Given the description of an element on the screen output the (x, y) to click on. 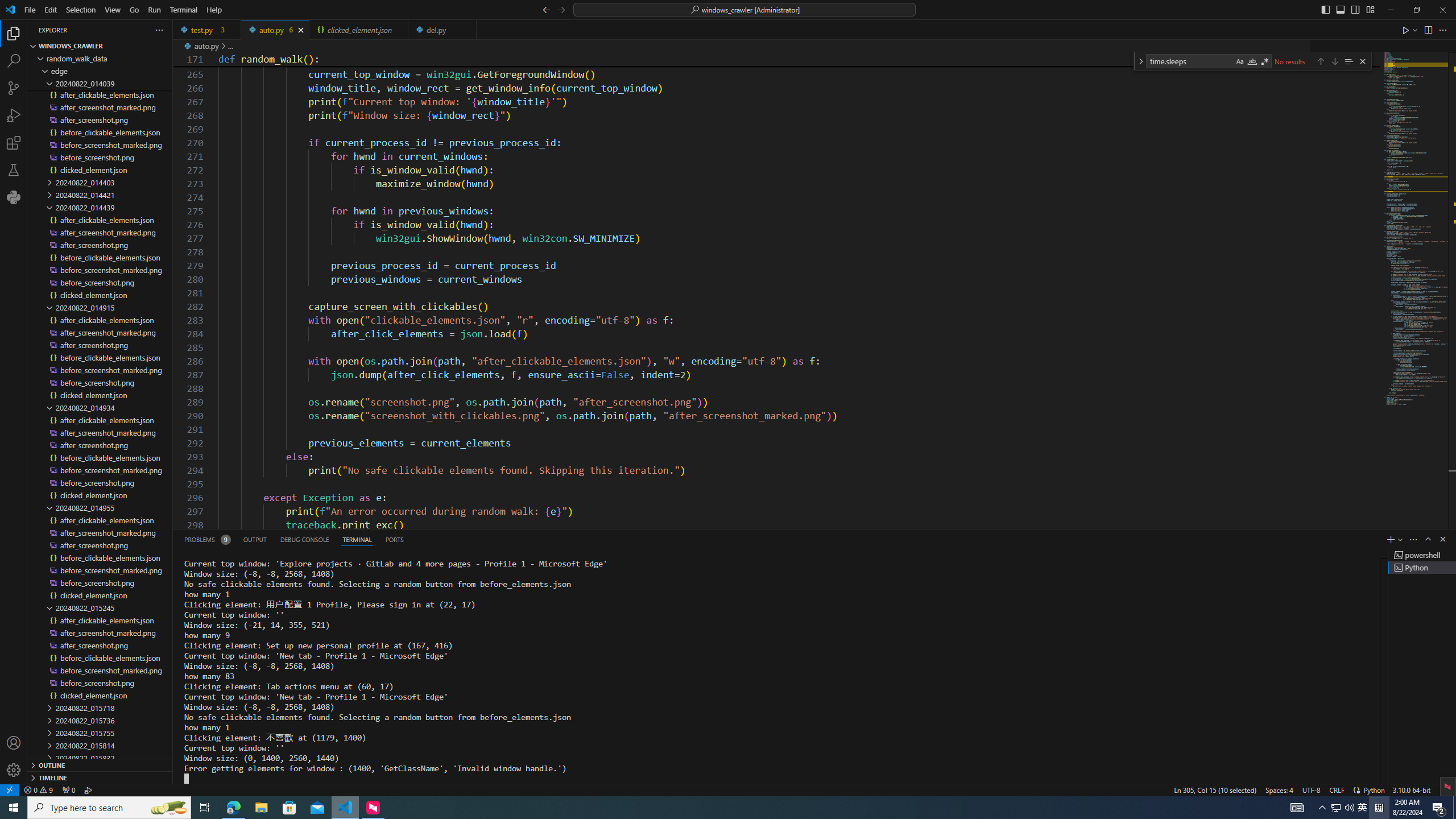
auto.py (274, 29)
Testing (13, 169)
Run and Debug (Ctrl+Shift+D) (13, 115)
Terminal (Ctrl+`) (356, 539)
Tab actions (468, 29)
Ports actions (917, 539)
Debug Console (Ctrl+Shift+Y) (304, 539)
Python (1373, 789)
Find in Selection (Alt+L) (1348, 60)
Launch Profile... (1400, 539)
Run Python File (1405, 29)
